Given the description of an element on the screen output the (x, y) to click on. 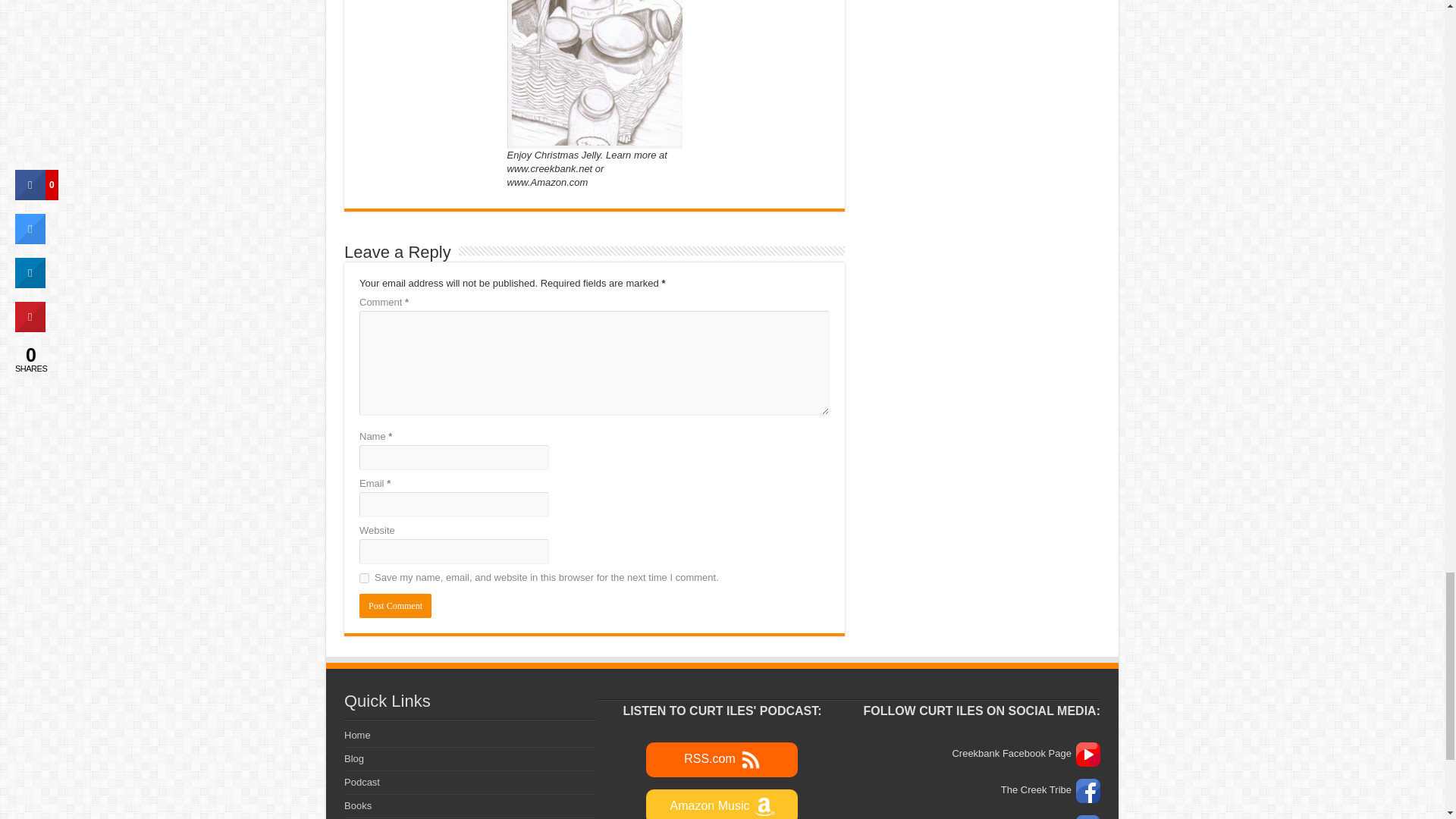
yes (364, 578)
Post Comment (394, 605)
